Given the description of an element on the screen output the (x, y) to click on. 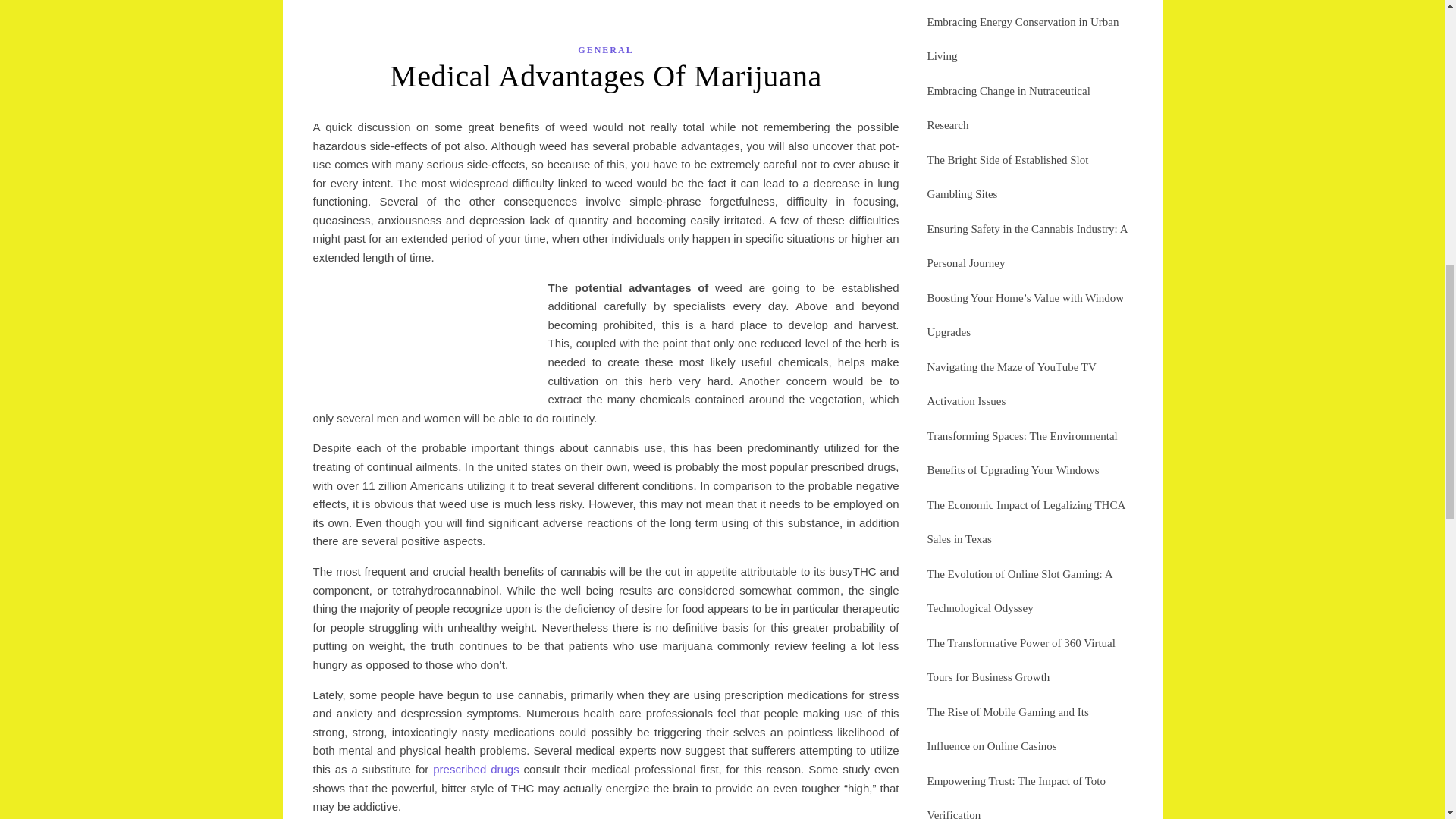
Empowering Trust: The Impact of Toto Verification (1015, 796)
The Bright Side of Established Slot Gambling Sites (1006, 176)
Ensuring Safety in the Cannabis Industry: A Personal Journey (1026, 245)
Embracing Energy Conservation in Urban Living (1022, 38)
GENERAL (605, 49)
Navigating the Maze of YouTube TV Activation Issues (1011, 384)
prescribed drugs (475, 768)
Embracing Change in Nutraceutical Research (1007, 108)
